Given the description of an element on the screen output the (x, y) to click on. 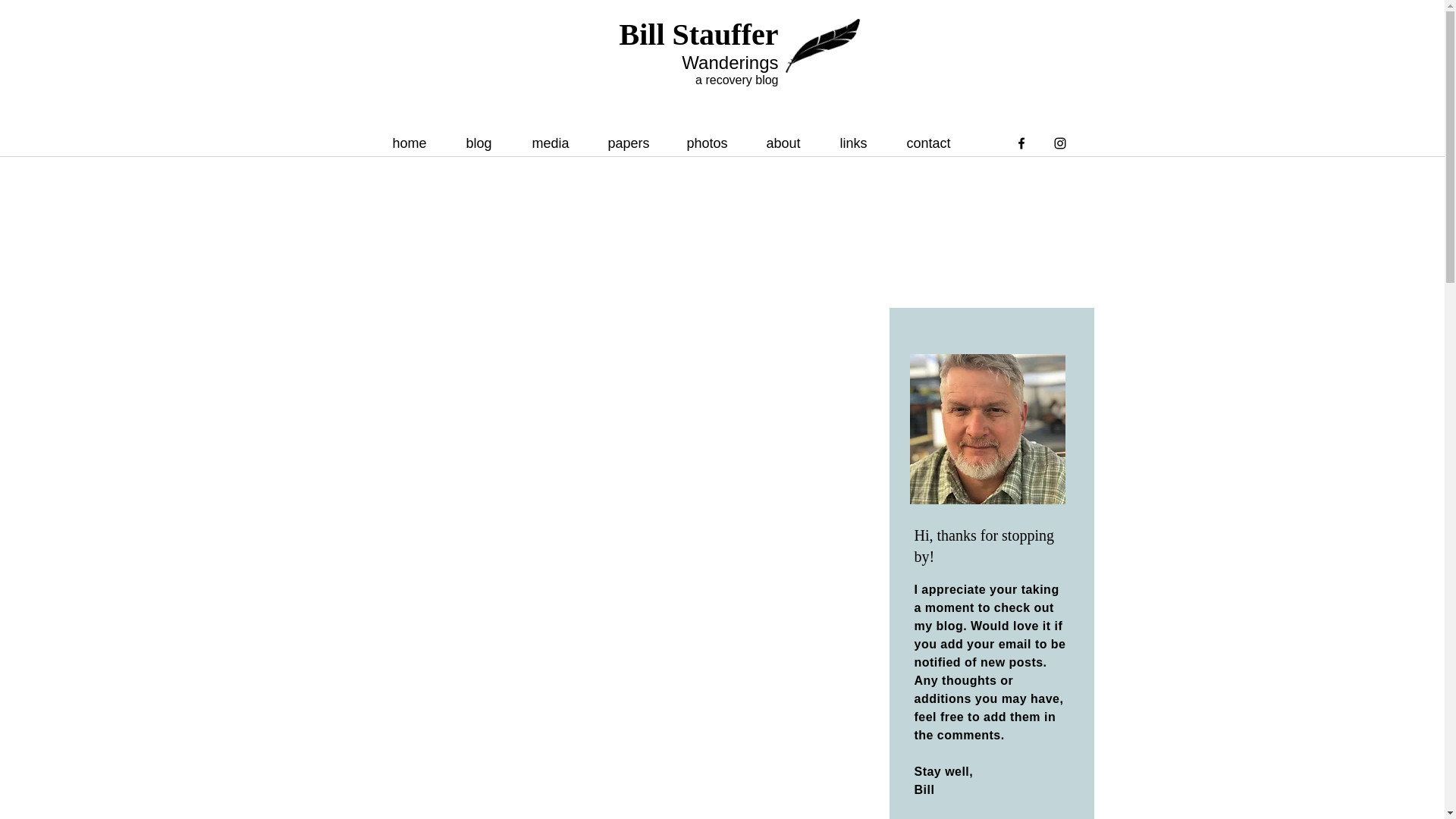
links (861, 142)
media (557, 142)
home (417, 142)
about (791, 142)
Bill Stauffer (699, 34)
blog (487, 142)
papers (635, 142)
photos (714, 142)
contact (936, 142)
